Given the description of an element on the screen output the (x, y) to click on. 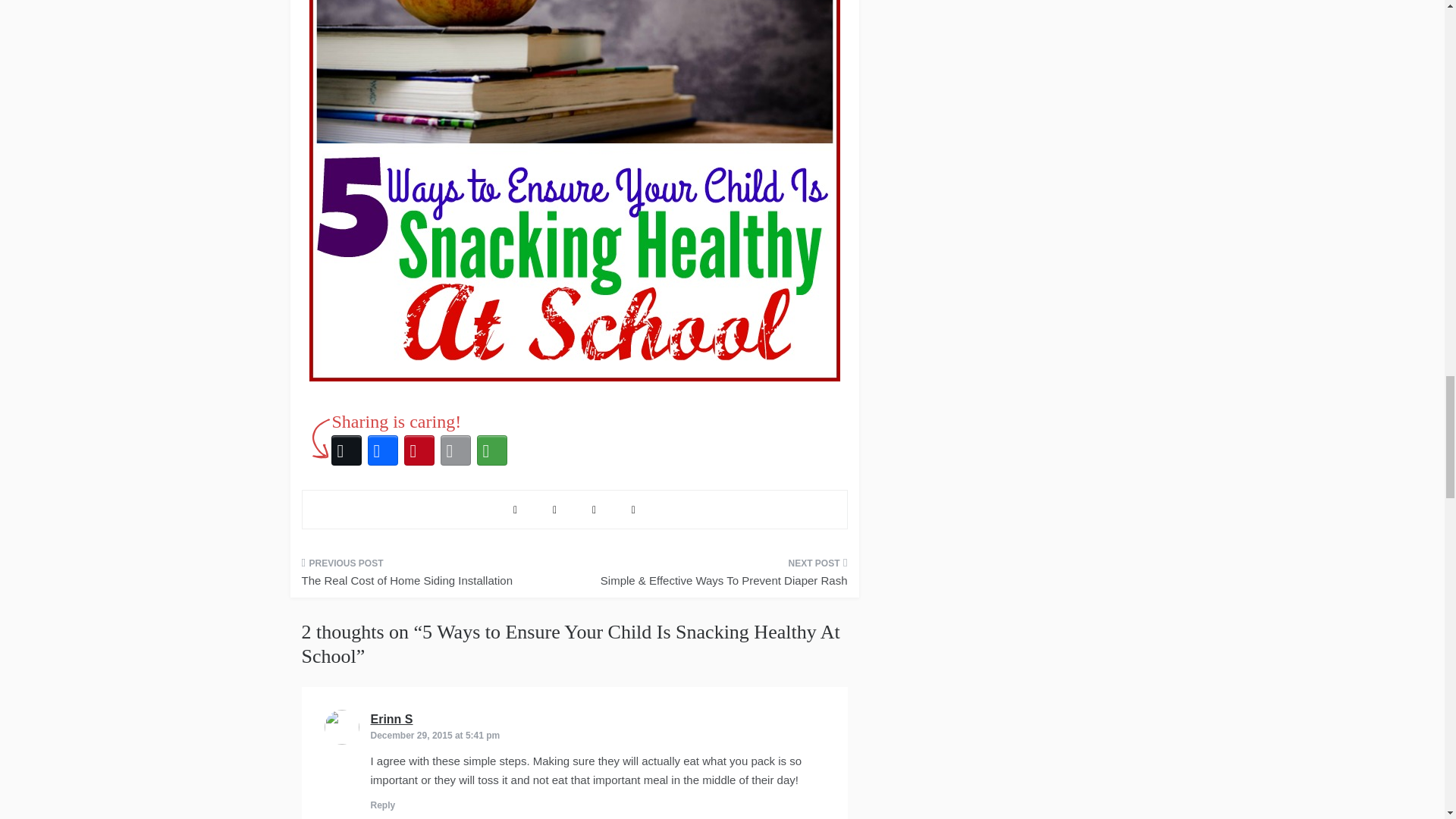
Pinterest (418, 450)
More Options (491, 450)
The Real Cost of Home Siding Installation (432, 577)
Email This (454, 450)
Facebook (382, 450)
